Given the description of an element on the screen output the (x, y) to click on. 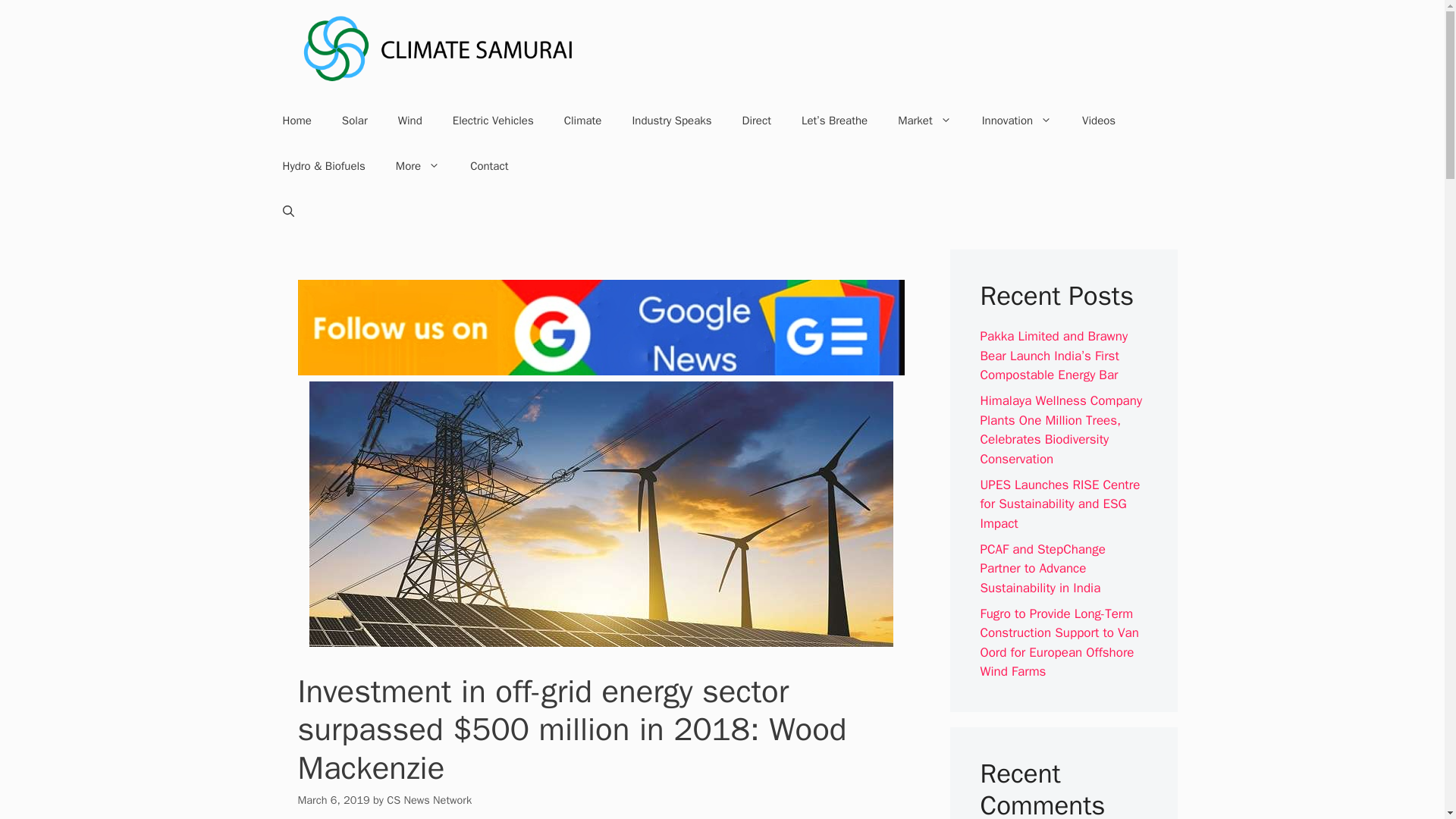
Contact (488, 166)
View all posts by CS News Network (429, 799)
Videos (1099, 120)
Wind (410, 120)
Climate Samurai (438, 48)
Direct (756, 120)
Climate (582, 120)
Electric Vehicles (493, 120)
Climate Samurai (438, 48)
Innovation (1016, 120)
